Given the description of an element on the screen output the (x, y) to click on. 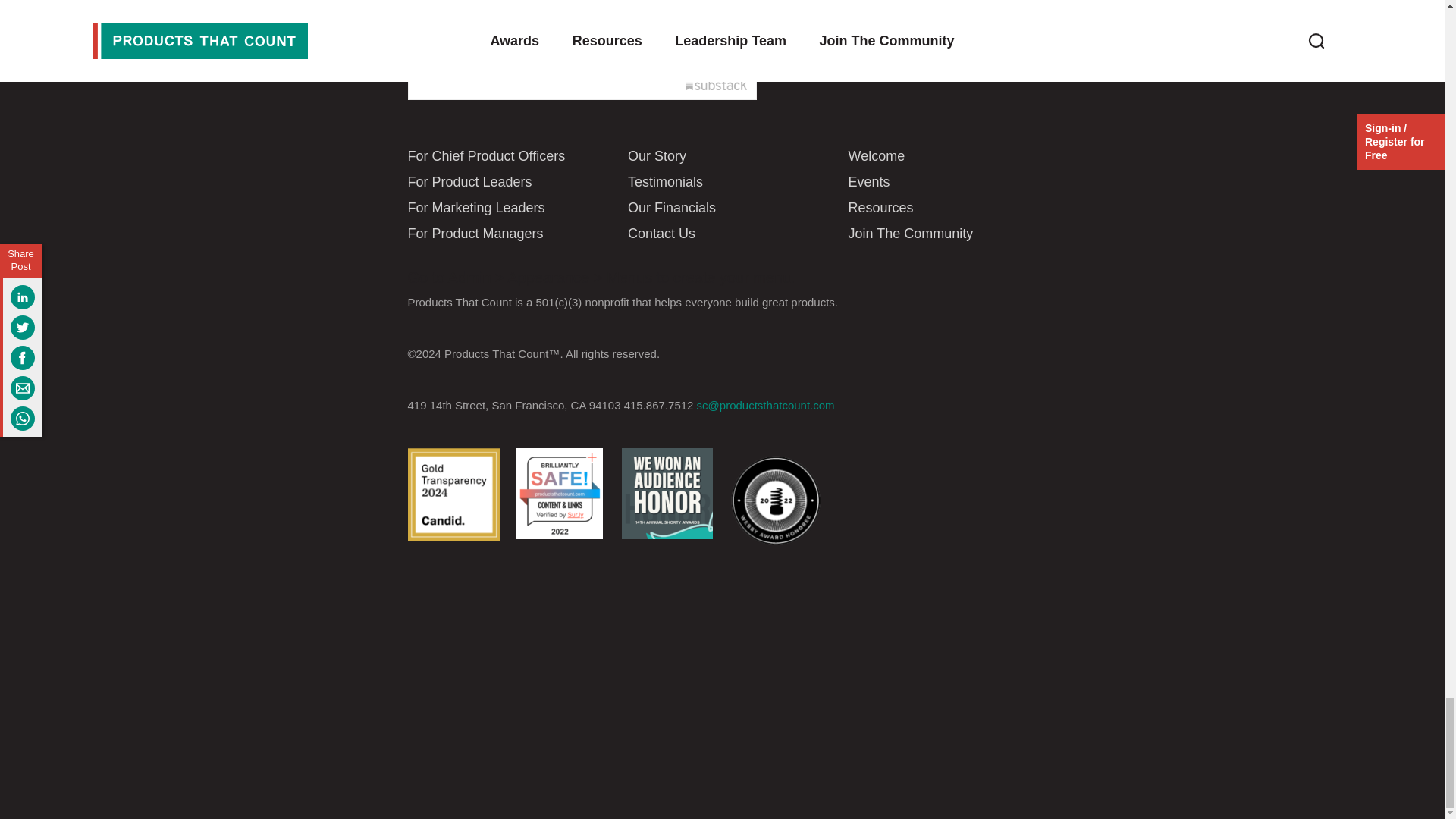
Sur ly badge (558, 492)
Site Badges bw webby honoree (775, 500)
AudienceHonor Square (667, 492)
Gold Star (453, 493)
